Given the description of an element on the screen output the (x, y) to click on. 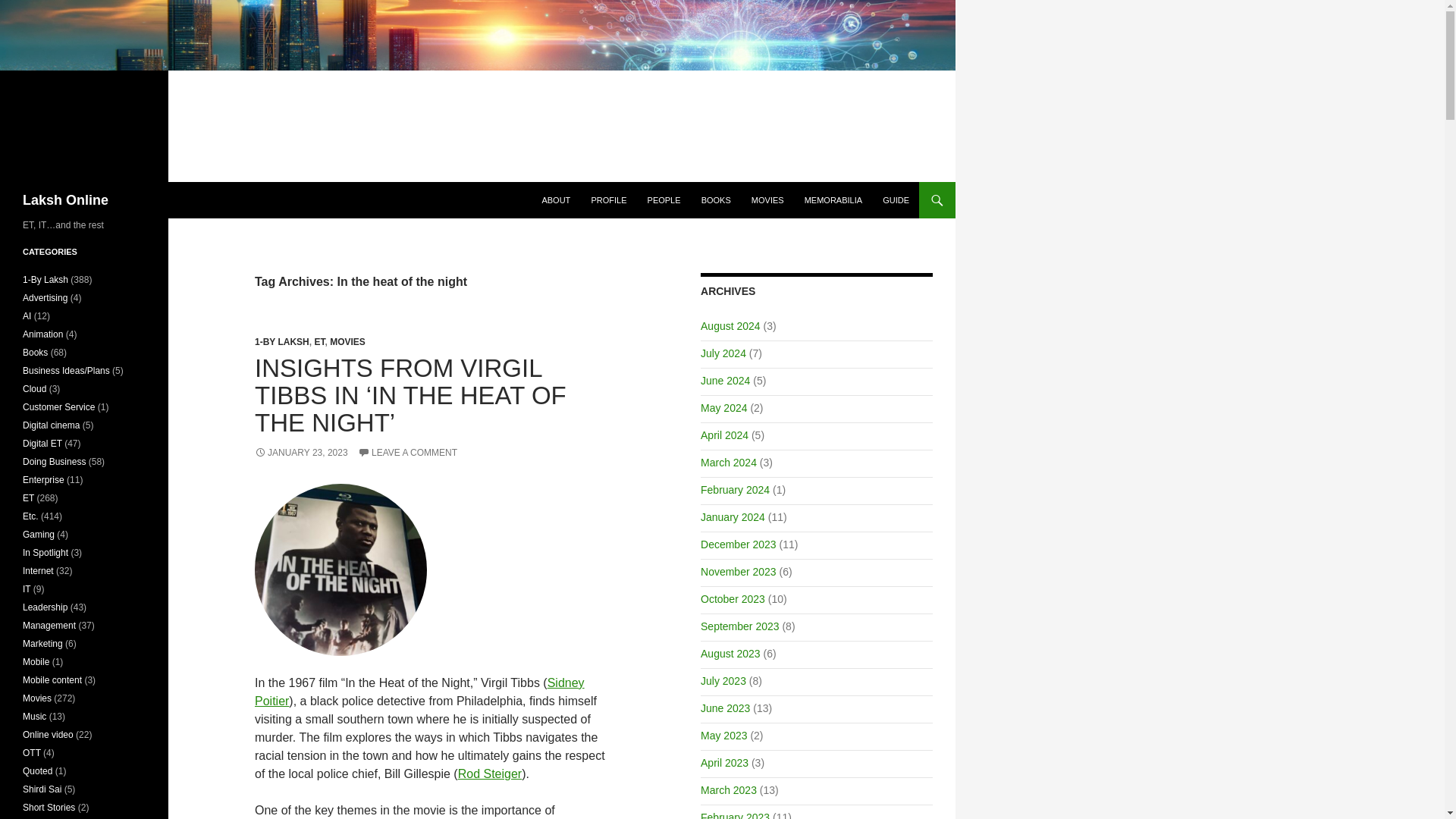
March 2024 (728, 462)
ABOUT (555, 199)
GUIDE (895, 199)
LEAVE A COMMENT (407, 452)
PROFILE (607, 199)
MOVIES (347, 341)
Laksh Online (65, 199)
MEMORABILIA (832, 199)
MOVIES (767, 199)
February 2024 (735, 490)
